Given the description of an element on the screen output the (x, y) to click on. 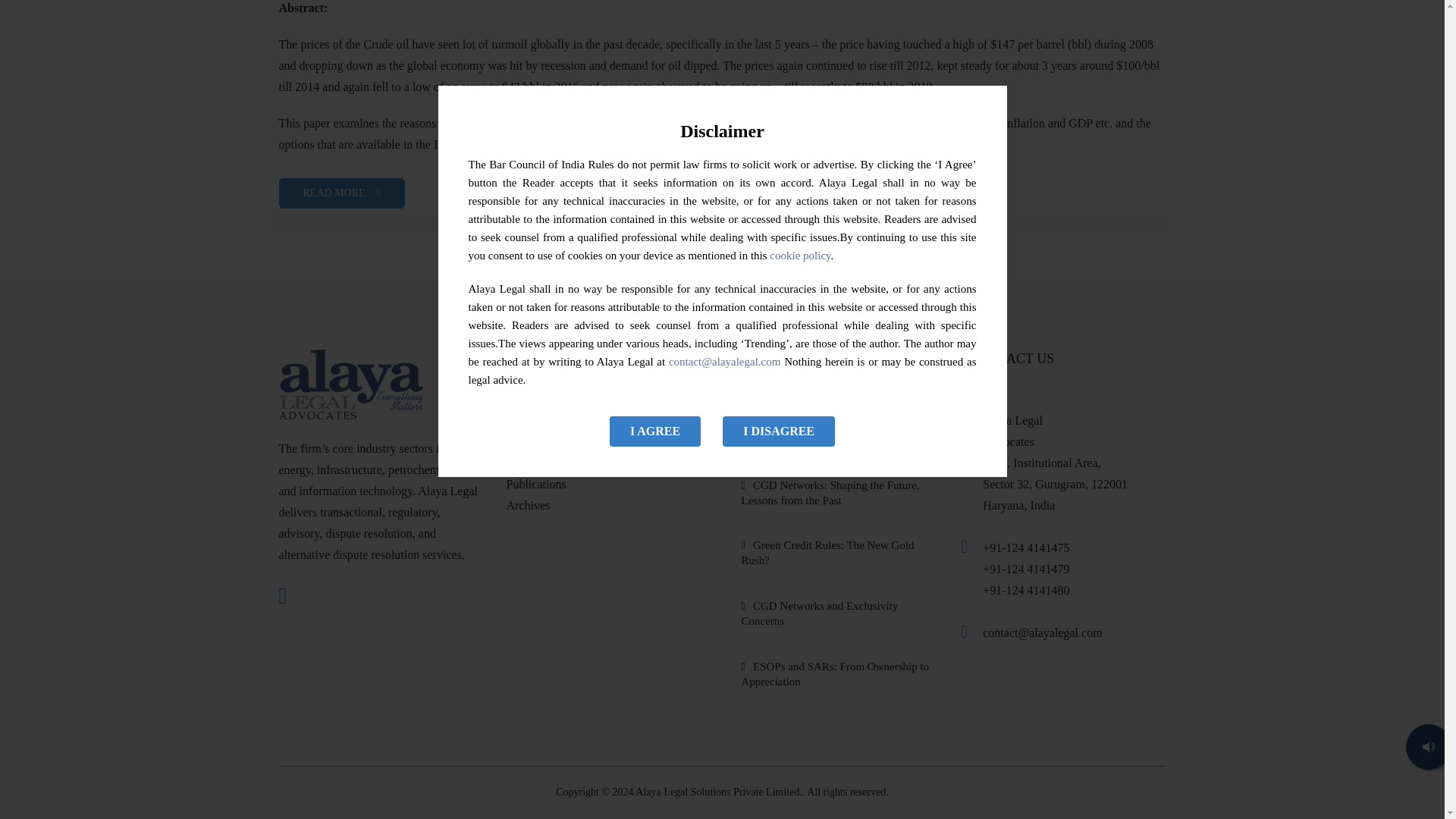
Read More (341, 193)
